Given the description of an element on the screen output the (x, y) to click on. 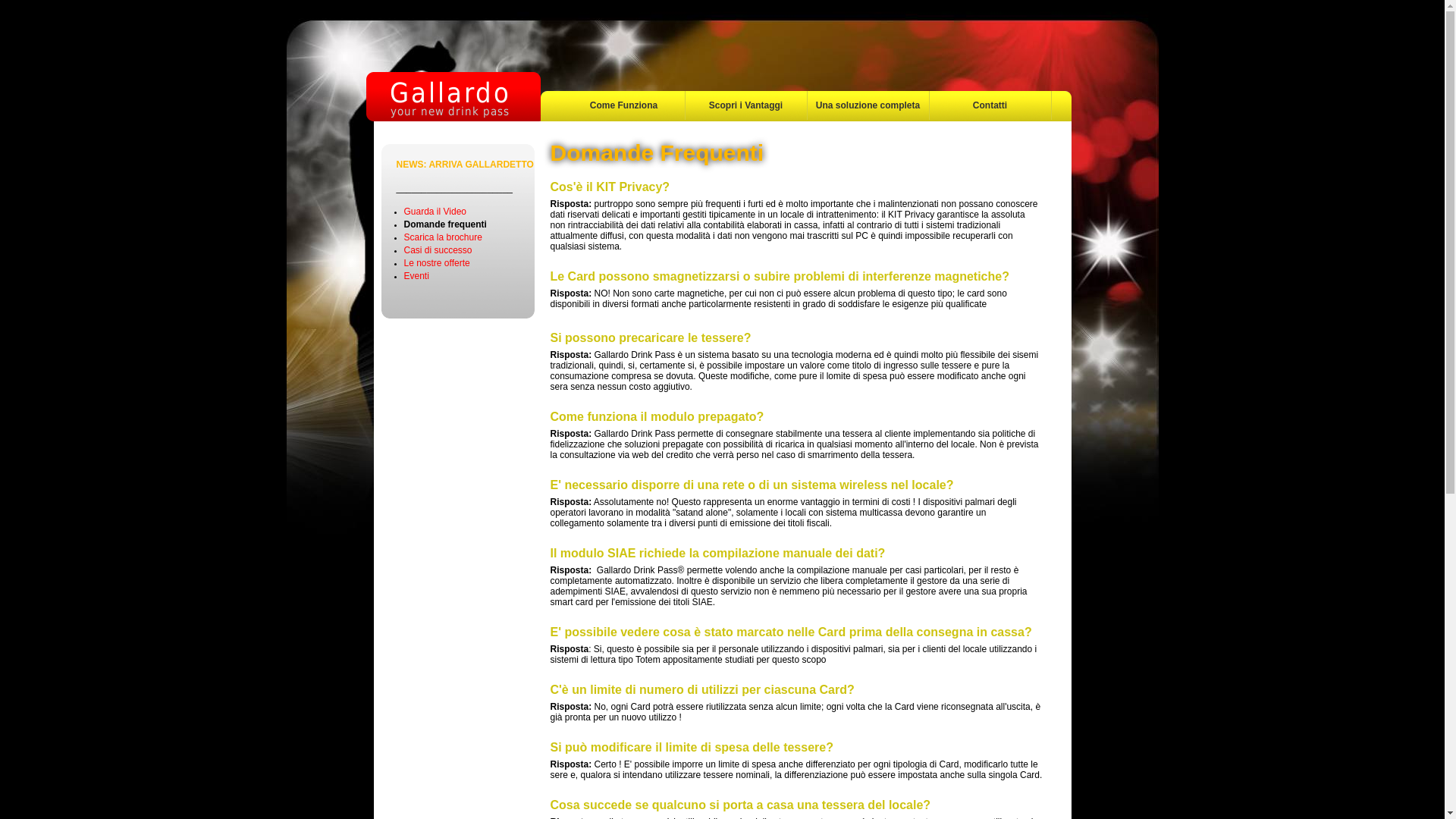
Guarda il Video Element type: text (434, 211)
Le nostre offerte Element type: text (436, 262)
Una soluzione completa Element type: text (867, 103)
Come Funziona Element type: text (623, 103)
Scarica la brochure Element type: text (442, 236)
NEWS: ARRIVA GALLARDETTO Element type: text (464, 164)
Casi di successo Element type: text (437, 249)
Scopri i Vantaggi Element type: text (745, 103)
Contatti Element type: text (989, 103)
Eventi Element type: text (415, 275)
